Given the description of an element on the screen output the (x, y) to click on. 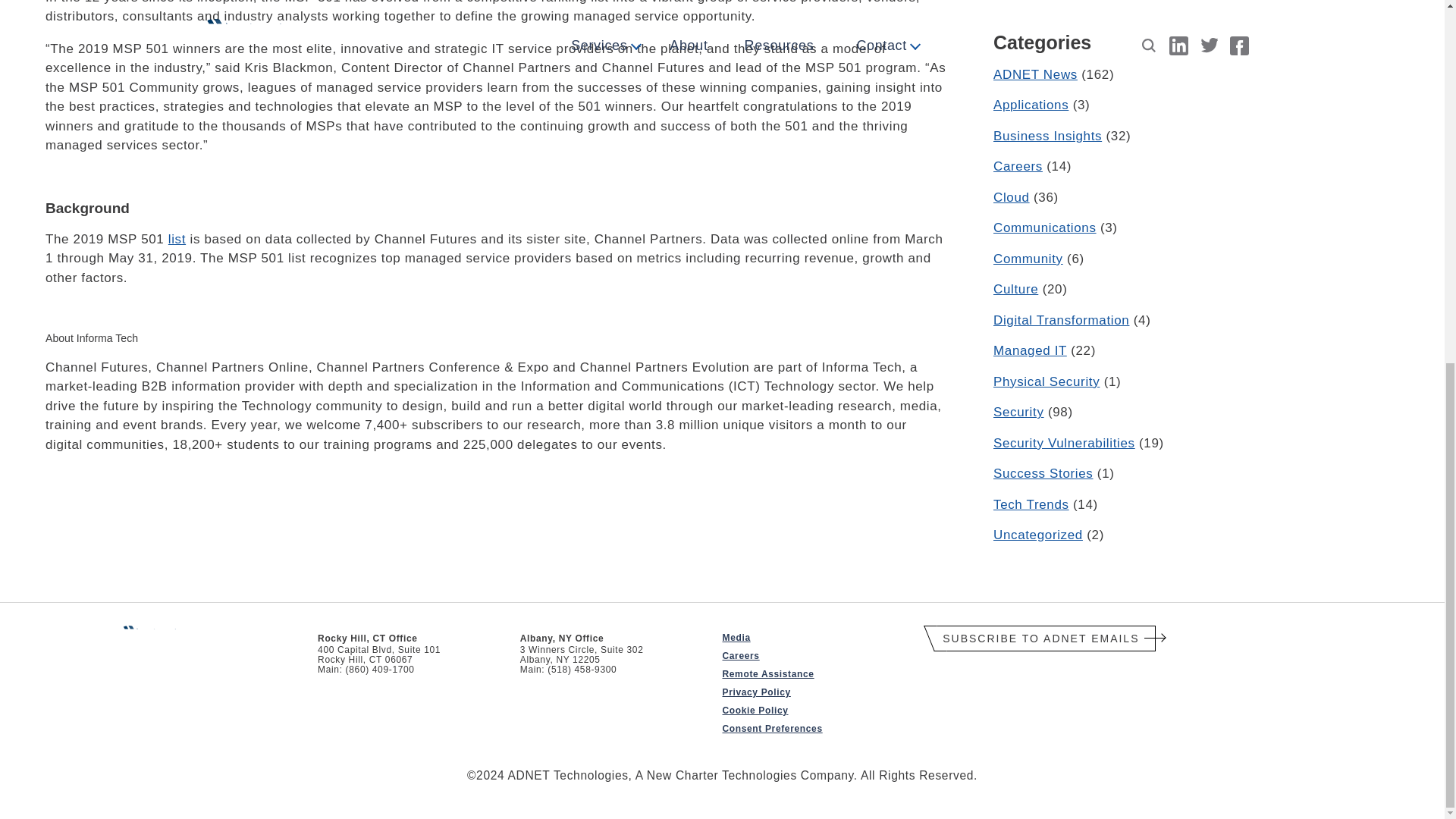
Business Insights (1047, 135)
Applications (1030, 104)
View Media page (735, 637)
Cloud (1010, 197)
Communications (1044, 227)
Careers (1017, 165)
list (177, 238)
View  Privacy Policy page (756, 692)
View Consent Preferences (772, 728)
ADNET News (1034, 74)
View Remote Assistance website (767, 674)
Community (1027, 258)
View  Careers page (740, 655)
View Cookie Policy page (754, 710)
